Given the description of an element on the screen output the (x, y) to click on. 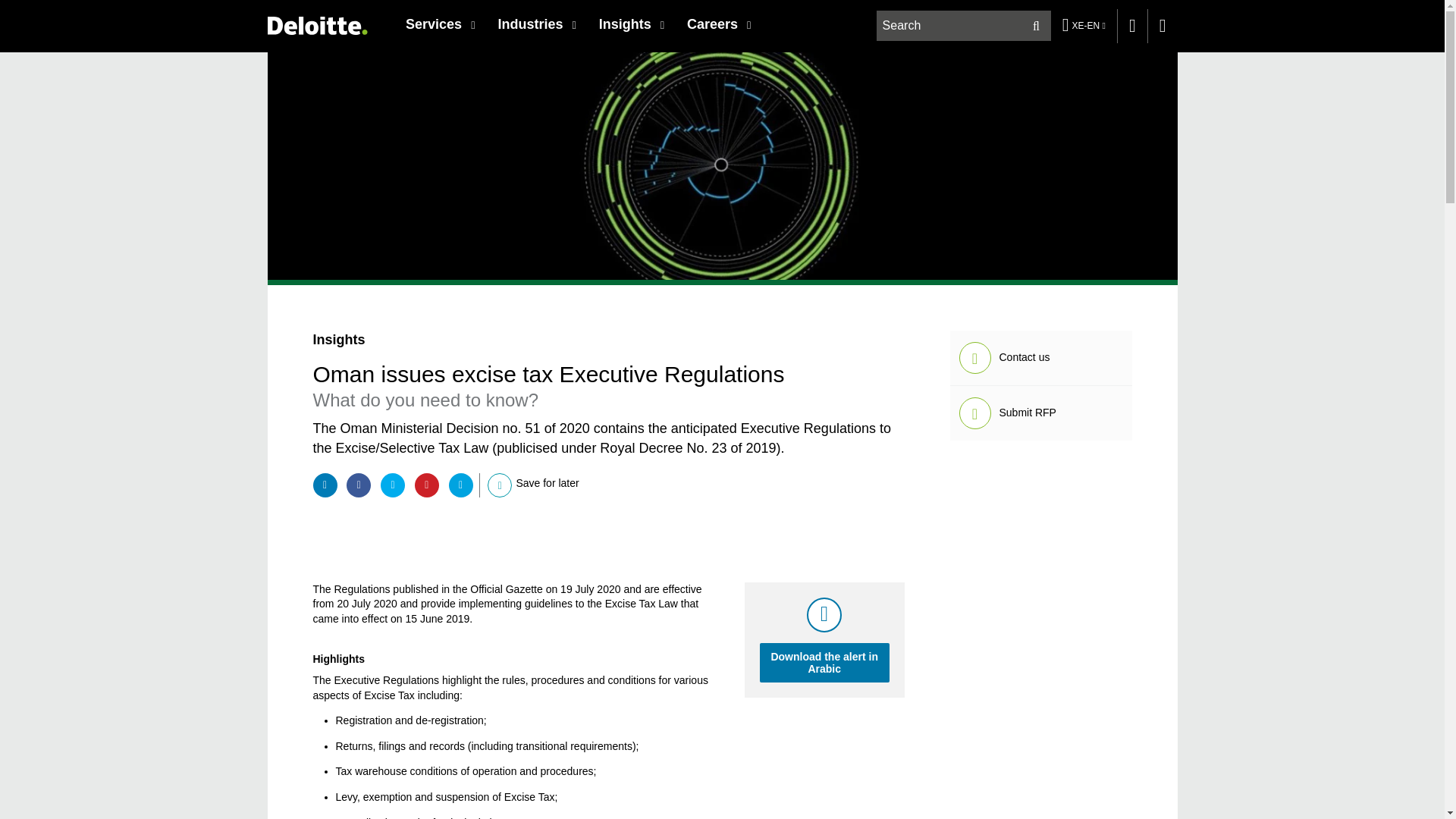
Share on LinkedIn (324, 485)
Share on Facebook (358, 485)
Industries (536, 24)
search (964, 25)
Save for later (499, 485)
Share by email (460, 485)
Search (1036, 25)
Share on Pinterest (426, 485)
Share on Twitter (392, 485)
Services (440, 24)
Deloitte Middle East (316, 25)
